Given the description of an element on the screen output the (x, y) to click on. 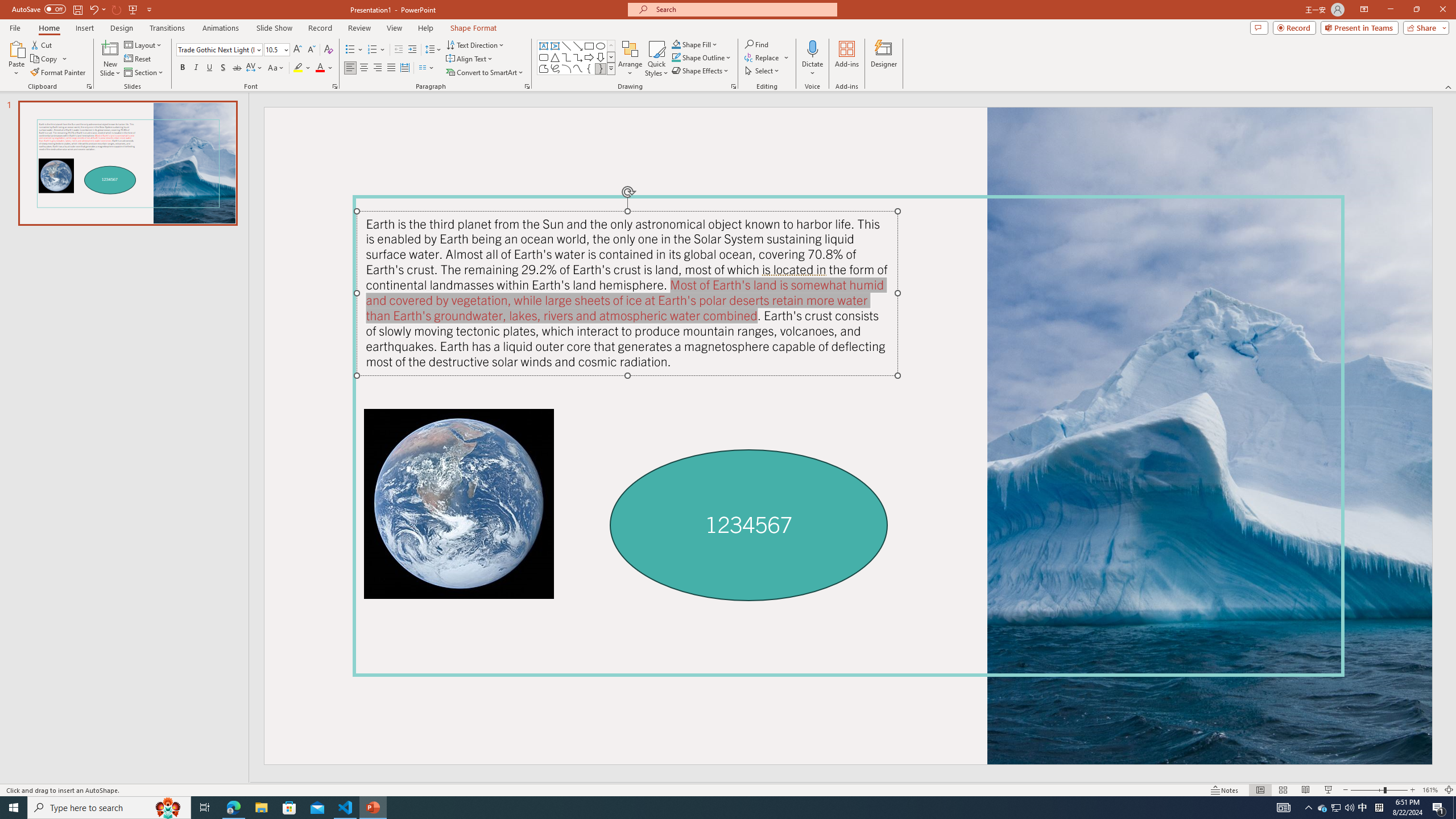
Paragraph... (526, 85)
Font Color Red (320, 67)
Right Brace (600, 68)
Oval (600, 45)
Shape Fill Aqua, Accent 2 (675, 44)
Shadow (223, 67)
